Given the description of an element on the screen output the (x, y) to click on. 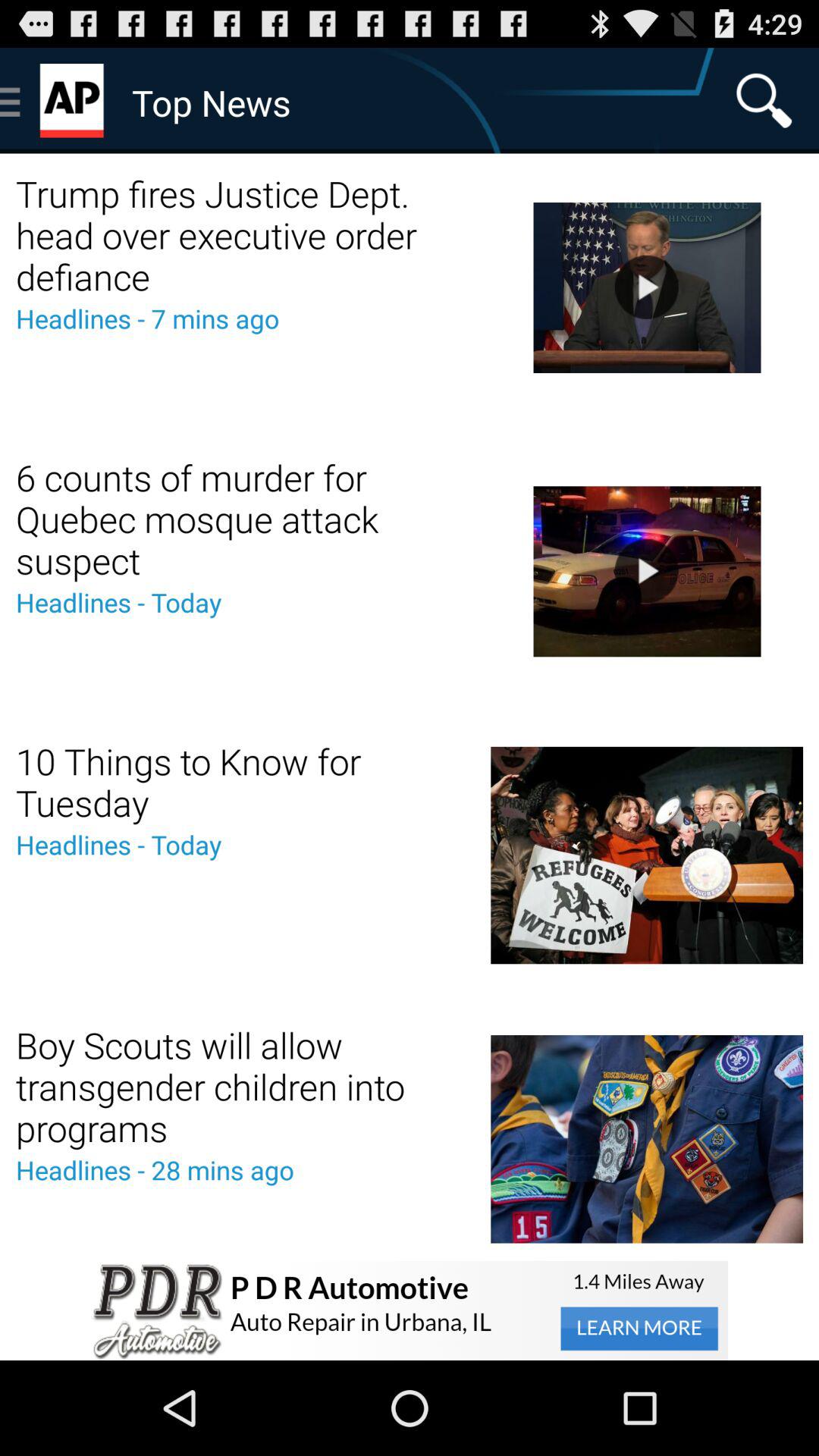
advertisement pop-up (409, 1310)
